Given the description of an element on the screen output the (x, y) to click on. 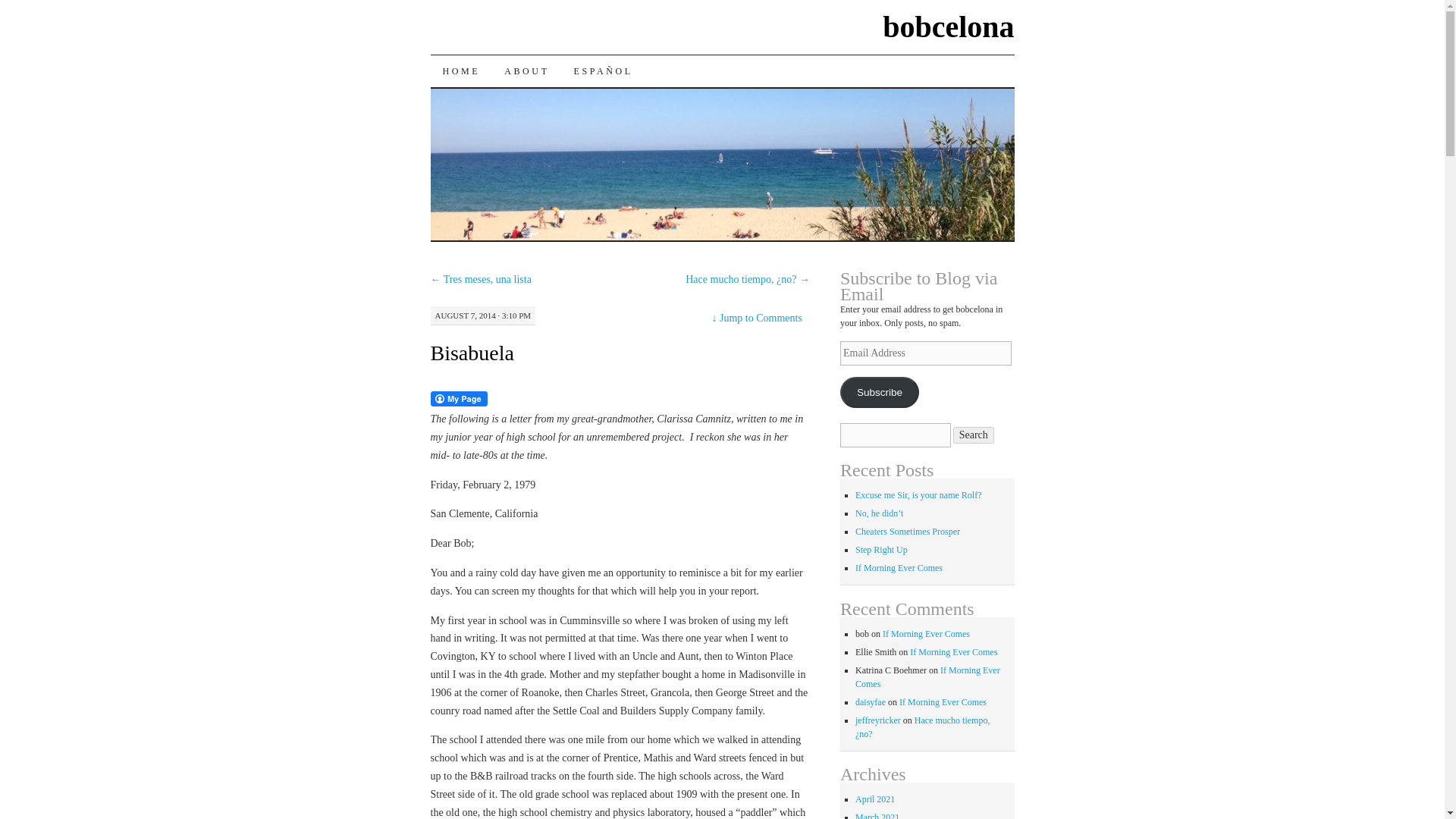
jeffreyricker (878, 719)
Bisabuela (471, 352)
If Morning Ever Comes (928, 677)
Search (973, 434)
bobcelona (947, 26)
Search (973, 434)
If Morning Ever Comes (943, 701)
Step Right Up (881, 549)
Cheaters Sometimes Prosper (907, 531)
If Morning Ever Comes (953, 652)
daisyfae (870, 701)
Subscribe (879, 391)
Excuse me Sir, is your name Rolf? (918, 494)
March 2021 (877, 815)
If Morning Ever Comes (899, 567)
